Given the description of an element on the screen output the (x, y) to click on. 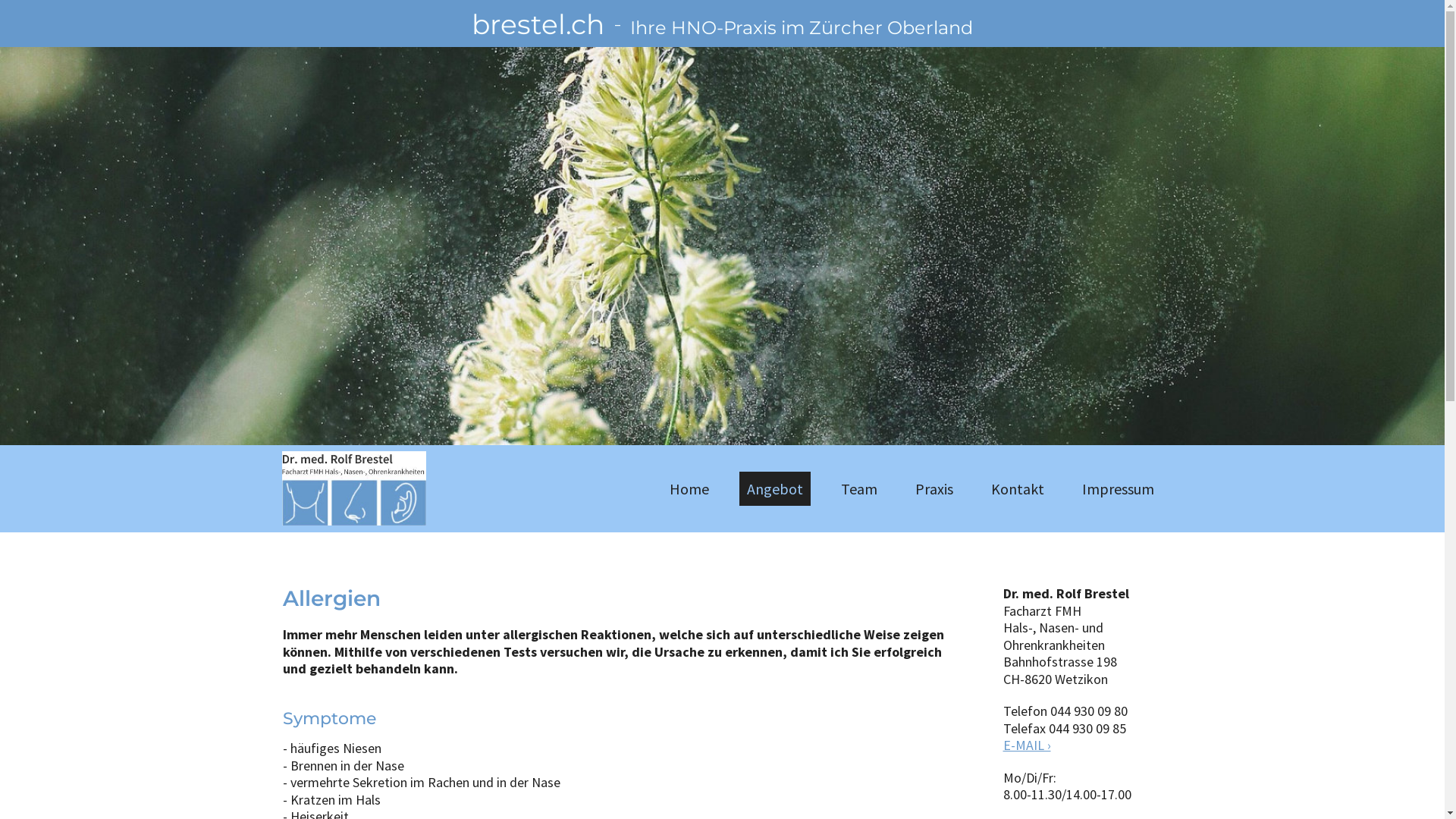
Praxis Element type: text (934, 488)
Team Element type: text (858, 488)
Home Element type: text (689, 488)
Impressum Element type: text (1118, 488)
  Element type: text (354, 486)
Kontakt Element type: text (1017, 488)
Angebot Element type: text (774, 488)
